Given the description of an element on the screen output the (x, y) to click on. 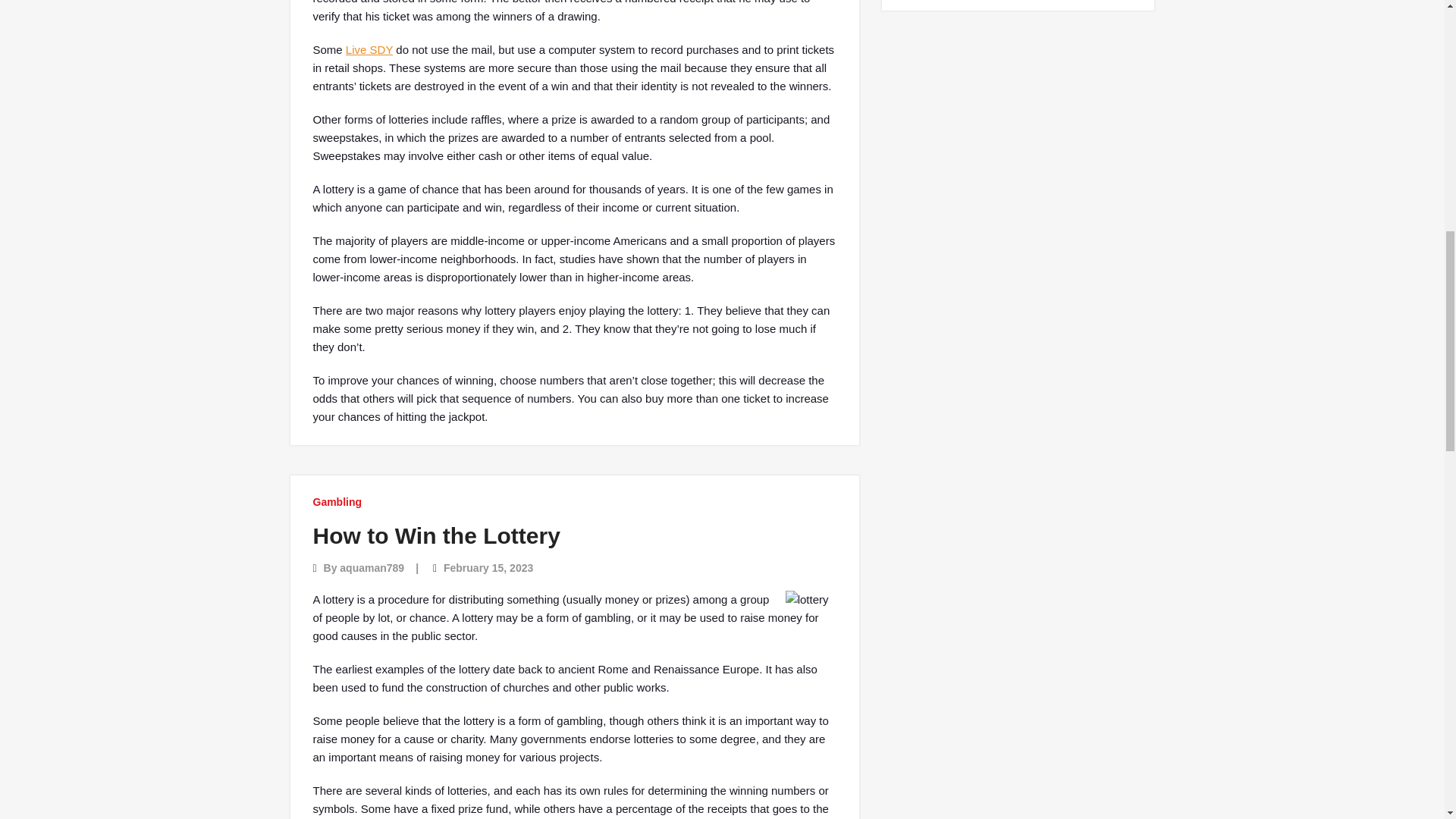
Live SDY (369, 49)
How to Win the Lottery (436, 535)
aquaman789 (371, 567)
Gambling (337, 501)
February 15, 2023 (488, 567)
